Given the description of an element on the screen output the (x, y) to click on. 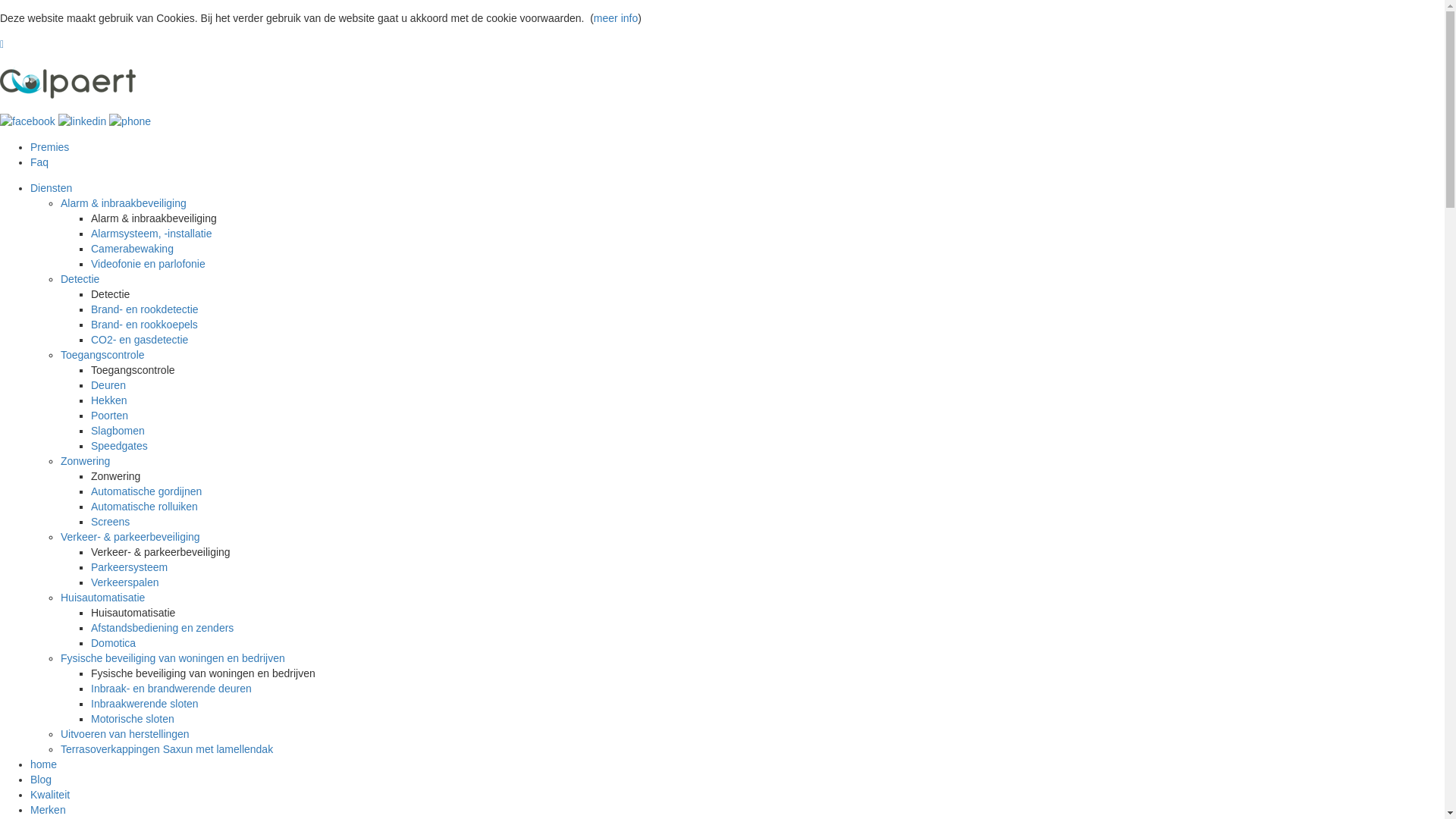
Brand- en rookkoepels Element type: text (144, 324)
Faq Element type: text (39, 162)
CO2- en gasdetectie Element type: text (139, 339)
Slagbomen Element type: text (117, 430)
Alarm & inbraakbeveiliging Element type: text (123, 203)
Merken Element type: text (47, 809)
Huisautomatisatie Element type: text (102, 597)
Screens Element type: text (110, 521)
Brand- en rookdetectie Element type: text (144, 309)
Automatische gordijnen Element type: text (146, 491)
Camerabewaking Element type: text (132, 248)
Verkeerspalen Element type: text (125, 582)
Terrasoverkappingen Saxun met lamellendak Element type: text (166, 749)
Deuren Element type: text (108, 385)
Diensten Element type: text (51, 188)
home Element type: text (43, 764)
Speedgates Element type: text (119, 445)
Inbraak- en brandwerende deuren Element type: text (171, 688)
Kwaliteit Element type: text (49, 794)
Domotica Element type: text (113, 643)
Afstandsbediening en zenders Element type: text (162, 627)
meer info Element type: text (615, 18)
Uitvoeren van herstellingen Element type: text (124, 734)
Poorten Element type: text (109, 415)
Inbraakwerende sloten Element type: text (144, 703)
Parkeersysteem Element type: text (129, 567)
Zonwering Element type: text (84, 461)
Videofonie en parlofonie Element type: text (148, 263)
Alarmsysteem, -installatie Element type: text (151, 233)
Motorische sloten Element type: text (132, 718)
Automatische rolluiken Element type: text (144, 506)
Hekken Element type: text (108, 400)
Verkeer- & parkeerbeveiliging Element type: text (130, 536)
Premies Element type: text (49, 147)
Blog Element type: text (40, 779)
Toegangscontrole Element type: text (102, 354)
Detectie Element type: text (79, 279)
Fysische beveiliging van woningen en bedrijven Element type: text (172, 658)
